Given the description of an element on the screen output the (x, y) to click on. 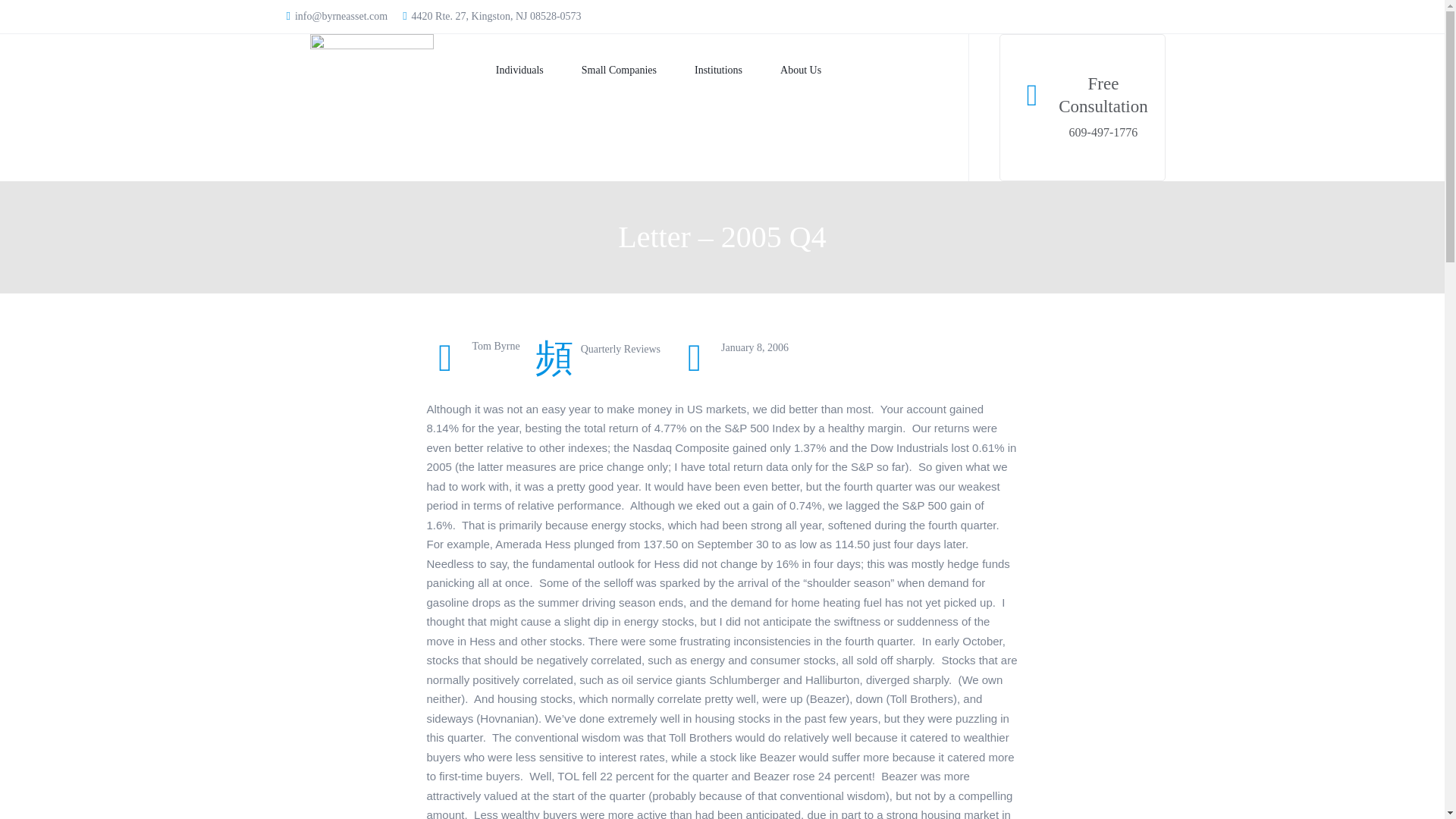
Small Companies (599, 70)
Institutions (699, 70)
Individuals (500, 70)
4420 Rte. 27, Kingston, NJ 08528-0573 (491, 16)
About Us (781, 70)
